Given the description of an element on the screen output the (x, y) to click on. 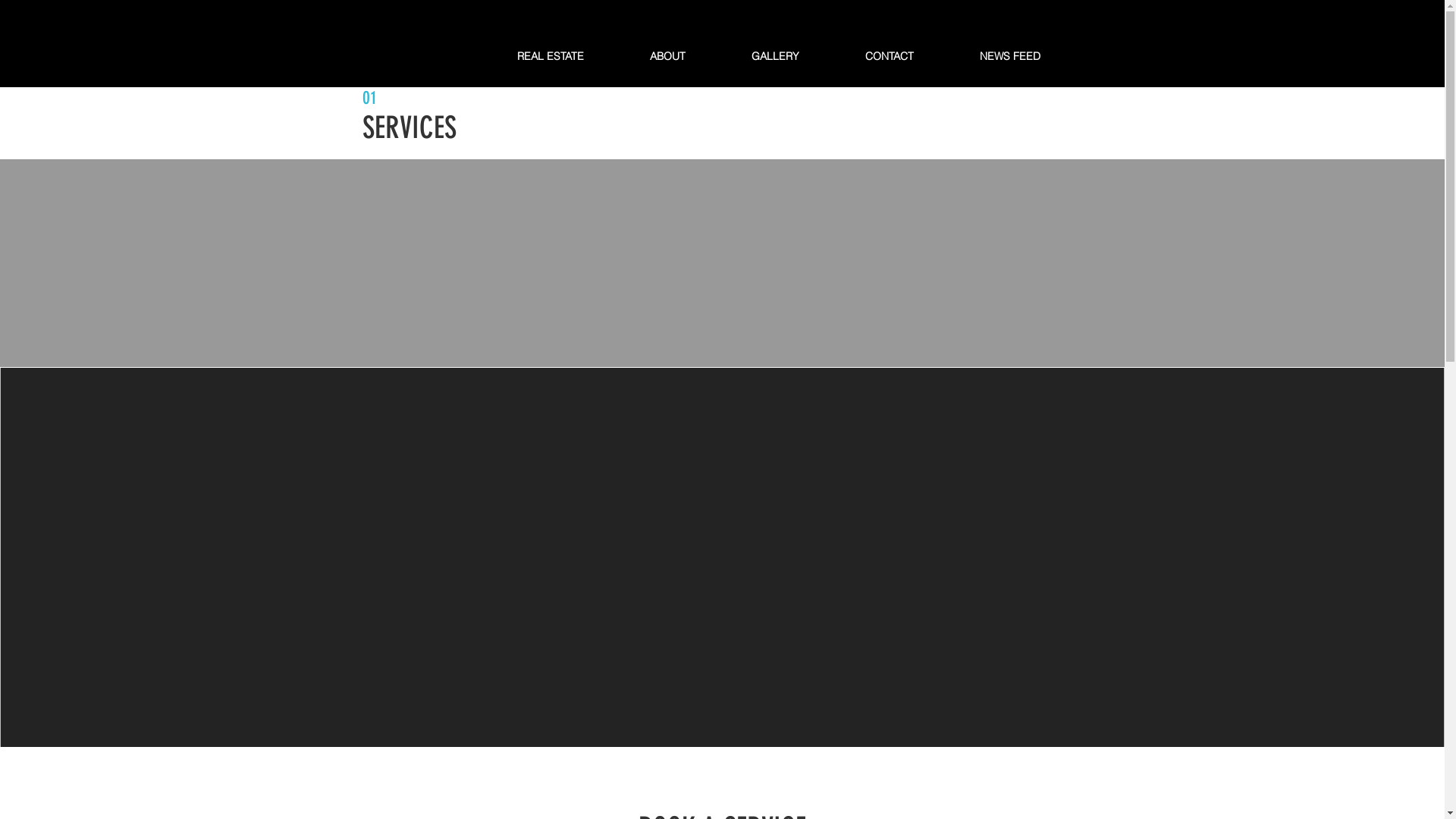
REAL ESTATE Element type: text (571, 56)
NEWS FEED Element type: text (1030, 56)
ABOUT Element type: text (689, 56)
CONTACT Element type: text (910, 56)
GALLERY Element type: text (796, 56)
